Given the description of an element on the screen output the (x, y) to click on. 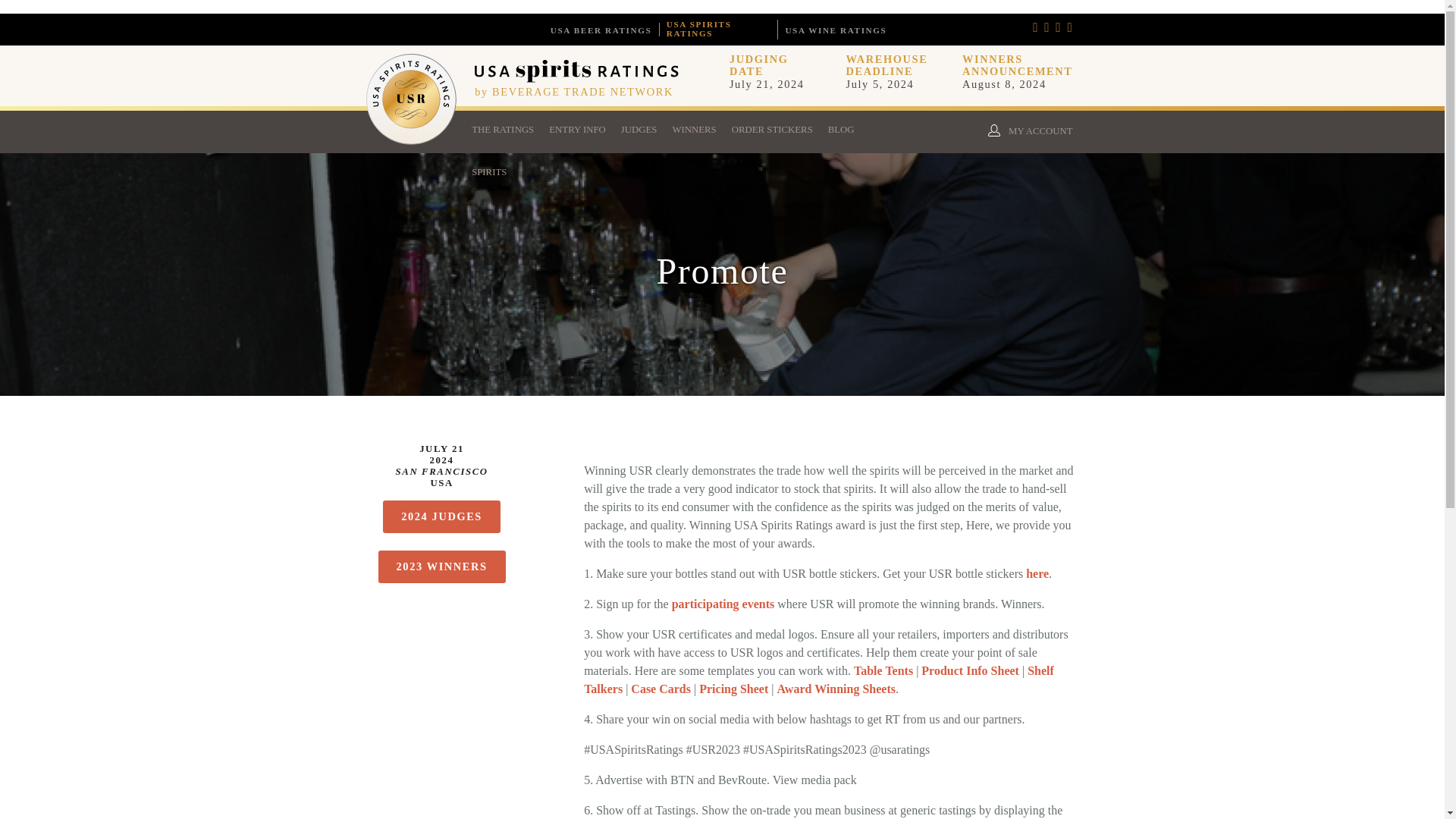
ENTRY INFO (577, 131)
USA Spirits Ratings (576, 78)
THE RATINGS (502, 131)
USA BEER RATINGS (601, 30)
BLOG (841, 131)
by BEVERAGE TRADE NETWORK (573, 91)
JUDGES (638, 131)
USA WINE RATINGS (835, 30)
USA Spirits Ratings (411, 140)
ORDER STICKERS (771, 131)
WINNERS (693, 131)
USA SPIRITS RATINGS (718, 28)
